Given the description of an element on the screen output the (x, y) to click on. 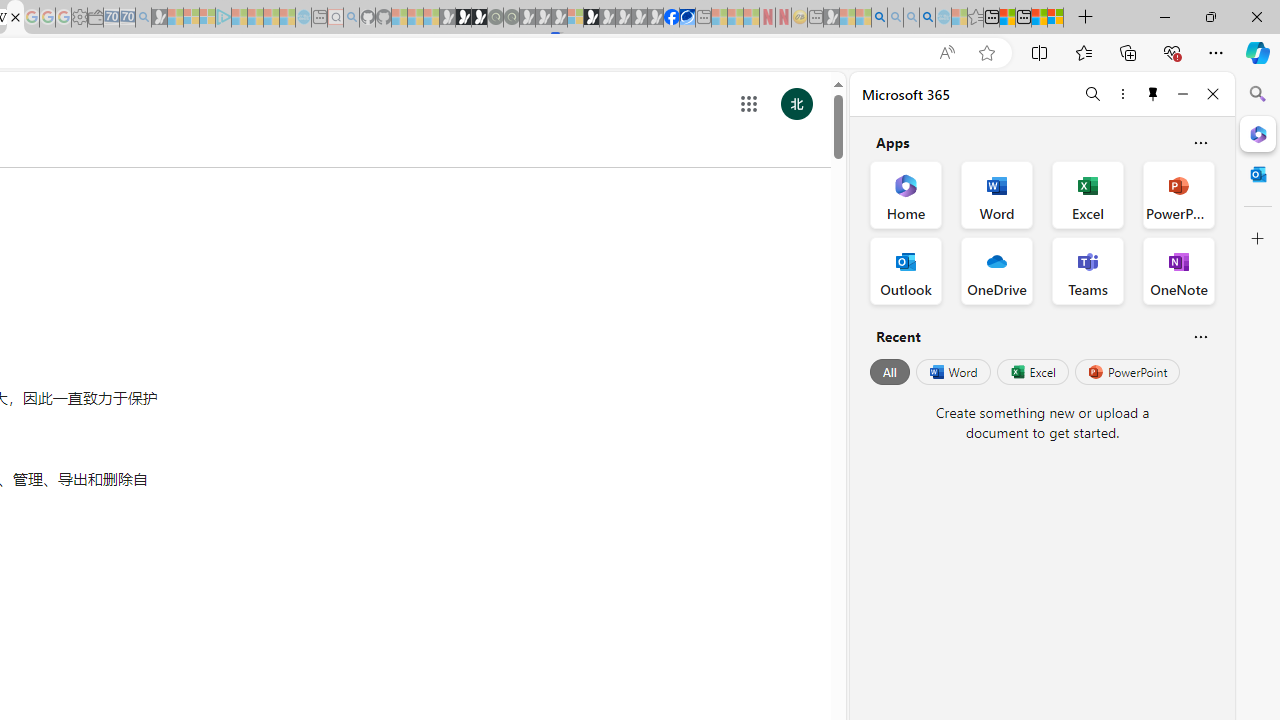
Class: gb_E (749, 103)
OneNote Office App (1178, 270)
Teams Office App (1087, 270)
Future Focus Report 2024 - Sleeping (511, 17)
